Given the description of an element on the screen output the (x, y) to click on. 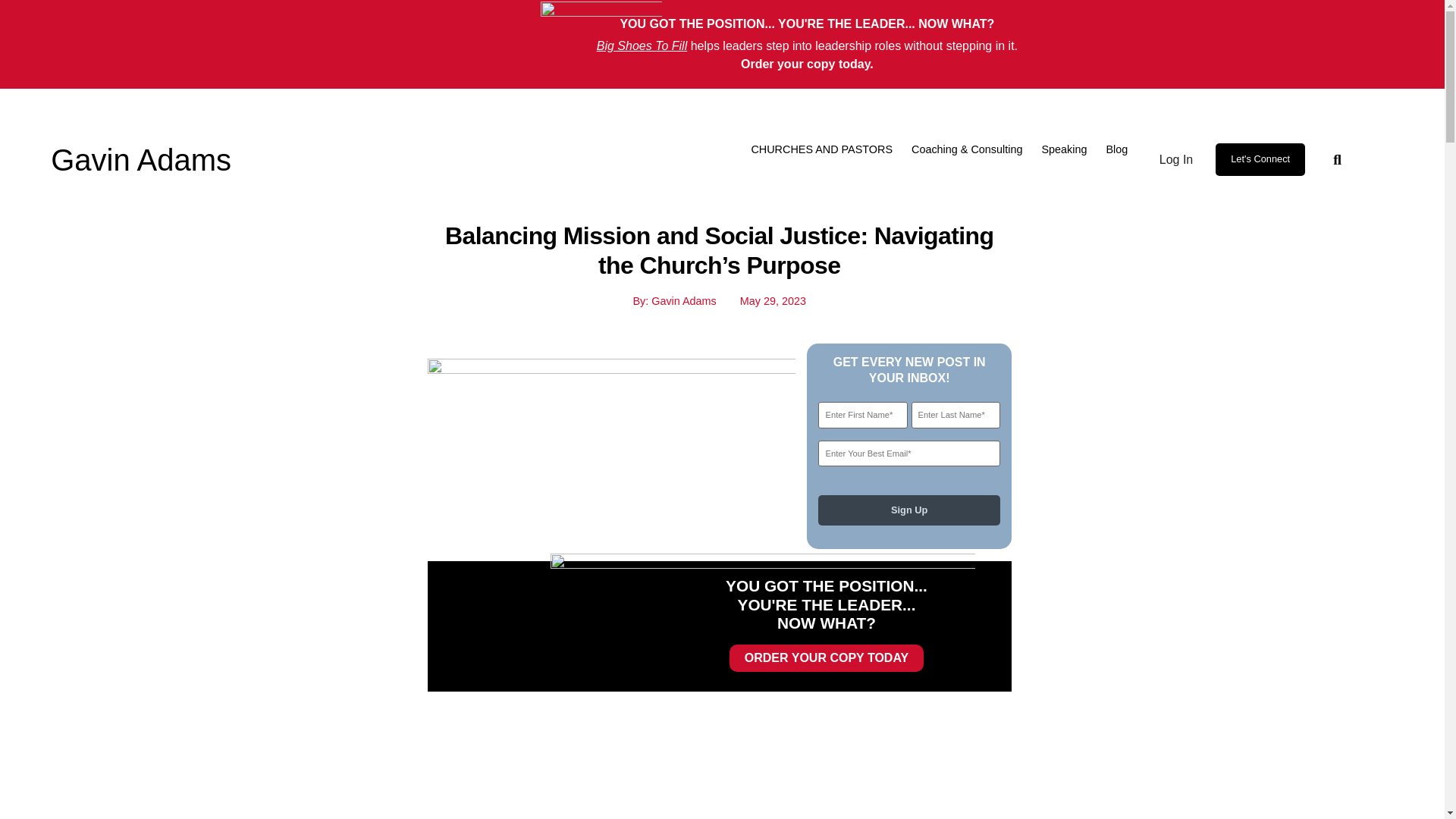
ORDER YOUR COPY TODAY (826, 657)
Gavin Adams (140, 159)
Speaking (1063, 149)
Sign Up (908, 509)
Log In (1173, 159)
Let's Connect (1259, 159)
Sign Up (908, 509)
CHURCHES AND PASTORS (821, 149)
